Given the description of an element on the screen output the (x, y) to click on. 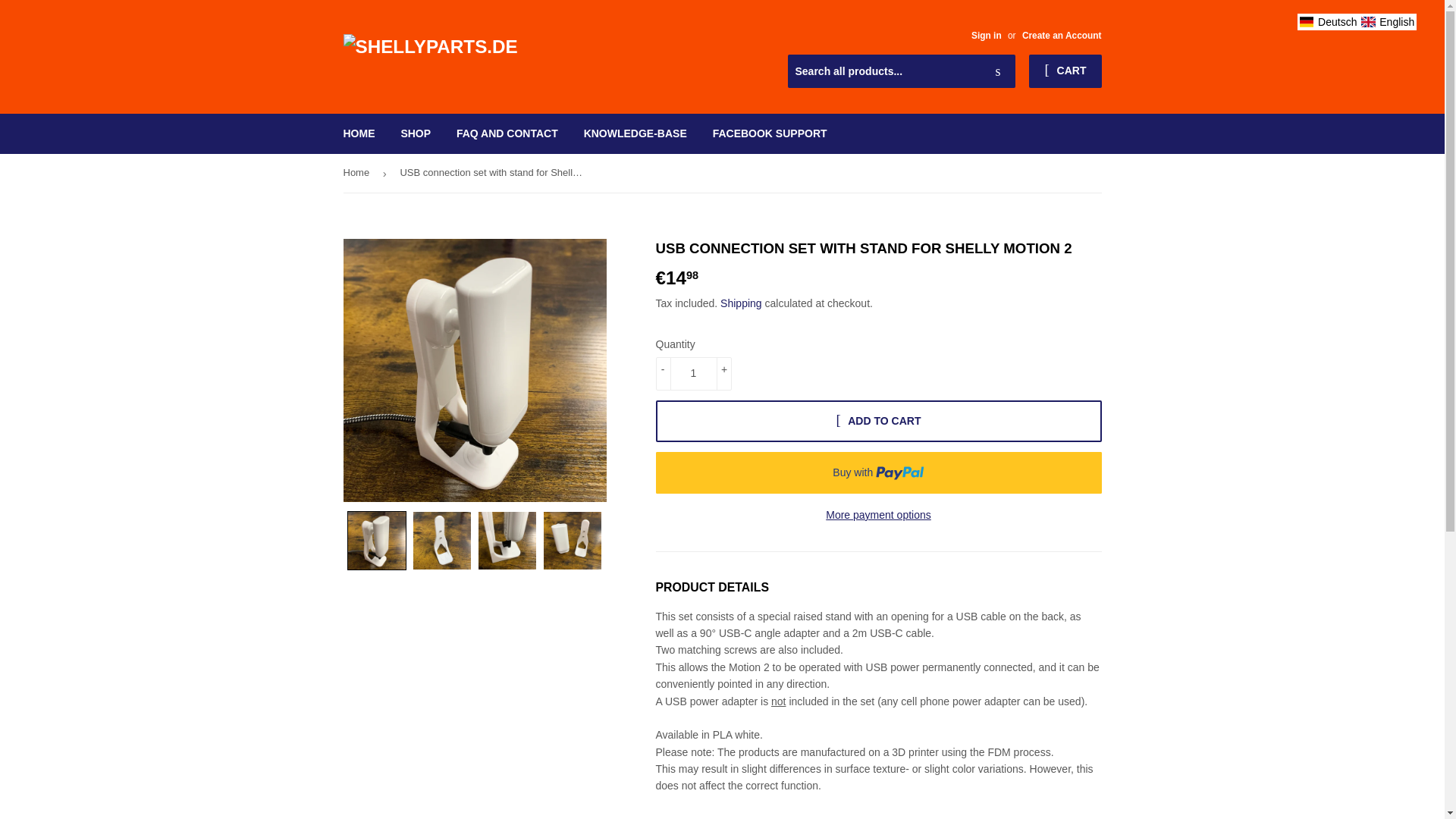
KNOWLEDGE-BASE (635, 133)
Deutsch (1327, 21)
FAQ AND CONTACT (507, 133)
1 (692, 373)
Sign in (986, 35)
Search (997, 71)
ADD TO CART (877, 421)
Create an Account (1062, 35)
FACEBOOK SUPPORT (769, 133)
SHOP (415, 133)
Shipping (740, 303)
More payment options (877, 515)
HOME (359, 133)
CART (1064, 70)
English (1387, 21)
